Given the description of an element on the screen output the (x, y) to click on. 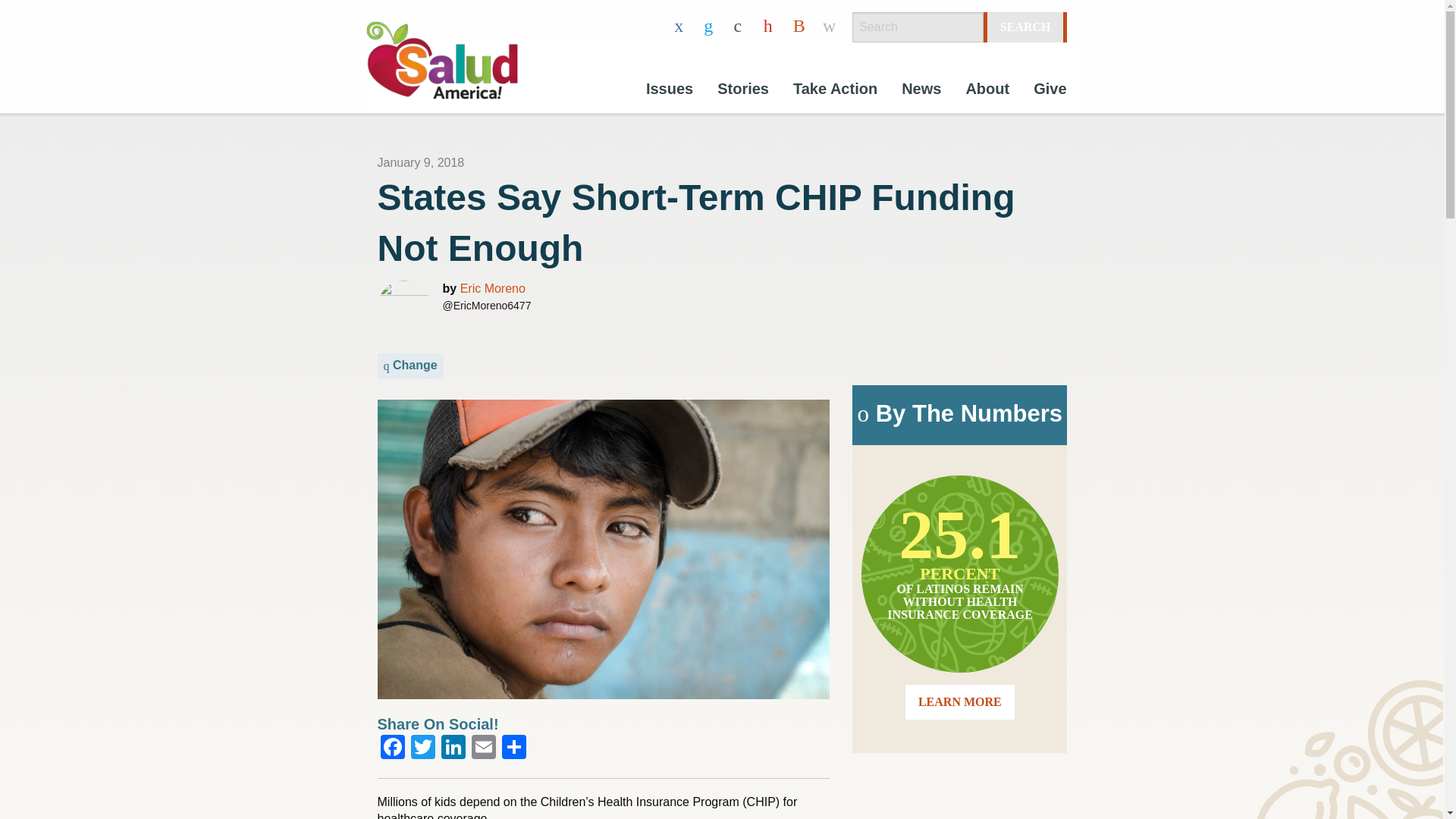
Email (483, 748)
Issues (668, 90)
LinkedIn (453, 748)
Facebook (392, 748)
Search (1025, 27)
Take Action (834, 90)
Stories (742, 90)
Eric Moreno (492, 287)
Facebook (392, 748)
Give (1050, 90)
LinkedIn (453, 748)
News (921, 90)
About (987, 90)
Twitter (422, 748)
Share (514, 748)
